Given the description of an element on the screen output the (x, y) to click on. 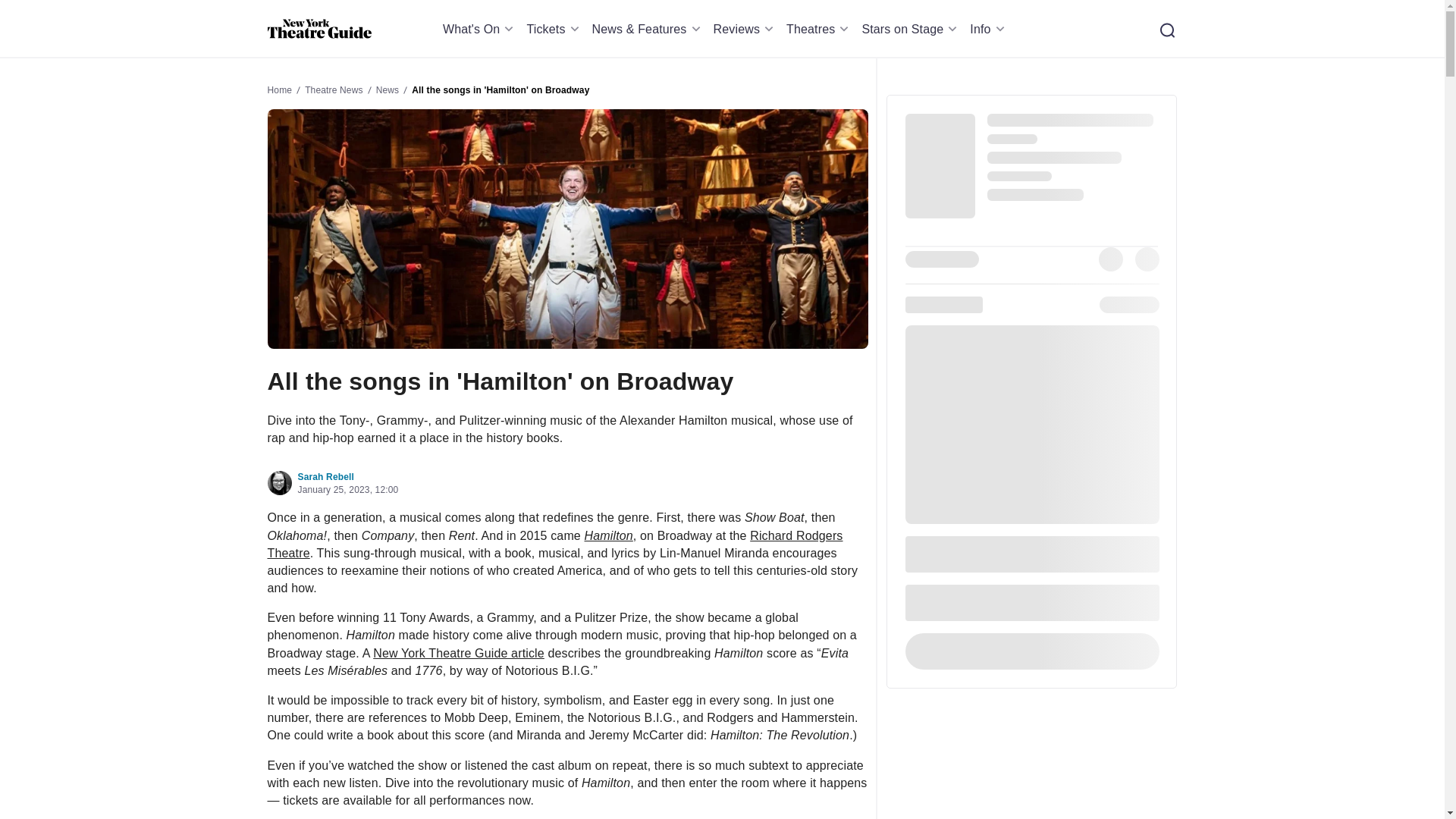
What's On (480, 28)
Home (318, 28)
Reviews (745, 28)
Theatres (819, 28)
Tickets (554, 28)
